Given the description of an element on the screen output the (x, y) to click on. 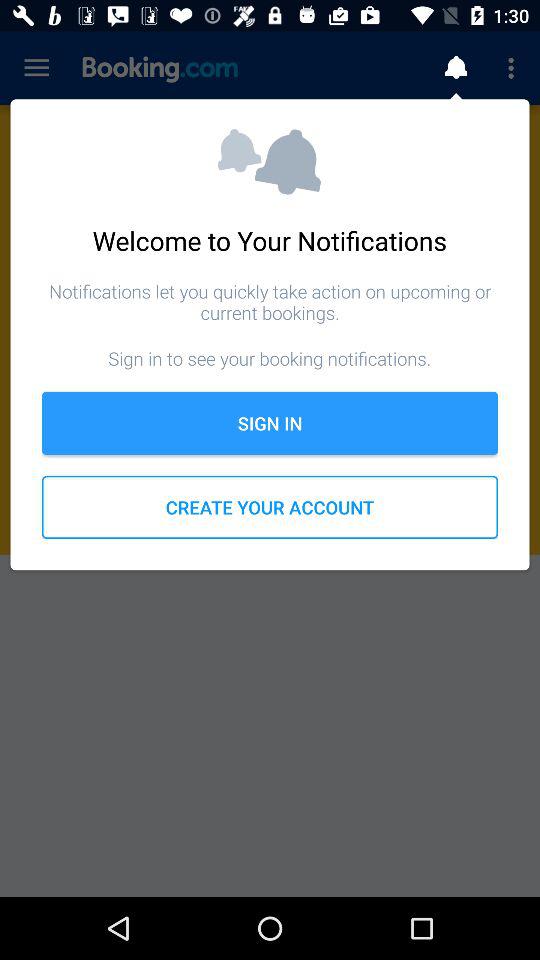
click for notification (455, 67)
